Given the description of an element on the screen output the (x, y) to click on. 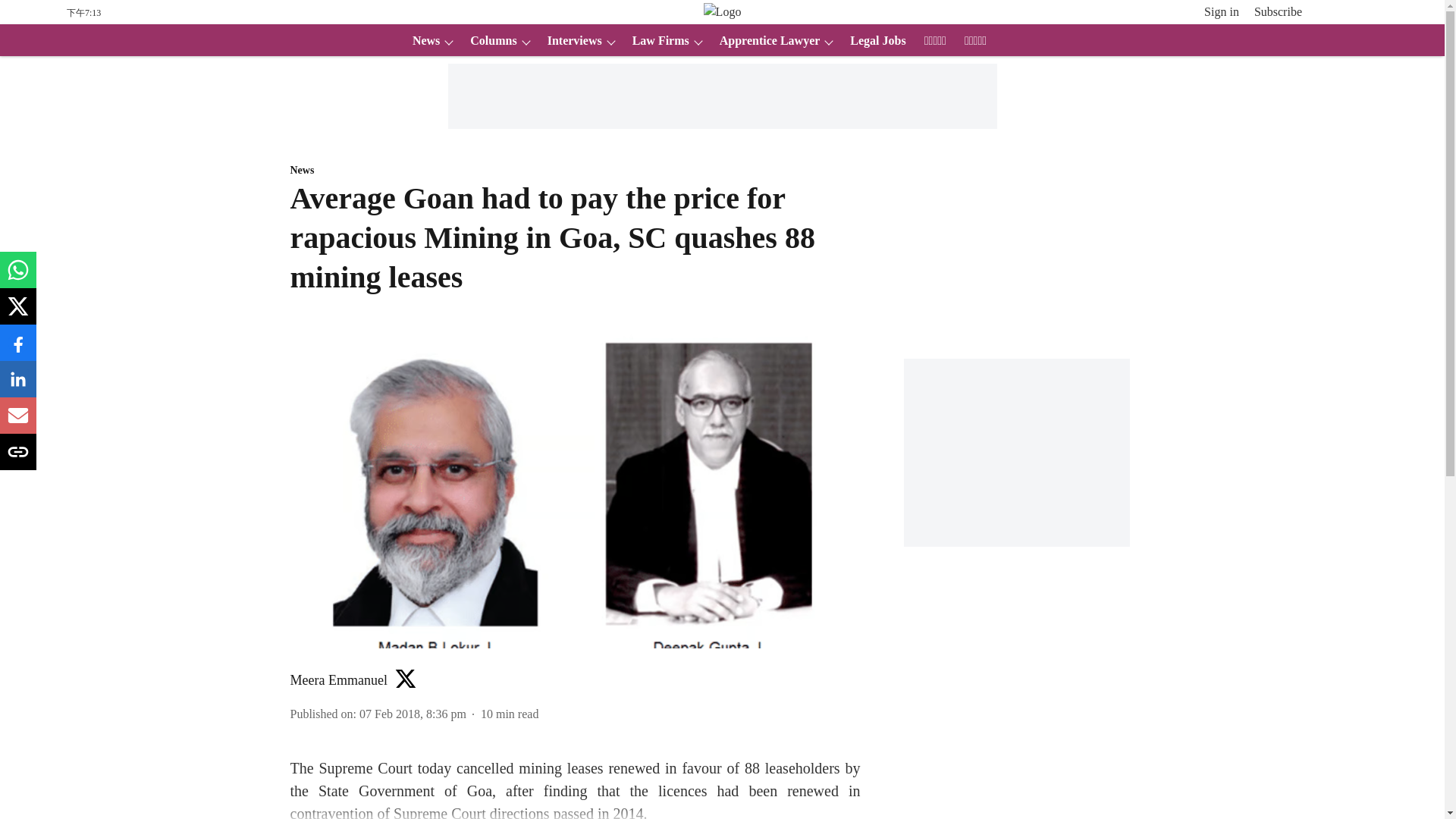
Interviews (570, 40)
News (421, 40)
Meera Emmanuel (338, 679)
Legal Jobs (873, 40)
Apprentice Lawyer (765, 40)
Law Firms (655, 40)
2018-02-07 12:36 (412, 713)
News (574, 170)
Columns (488, 40)
